Given the description of an element on the screen output the (x, y) to click on. 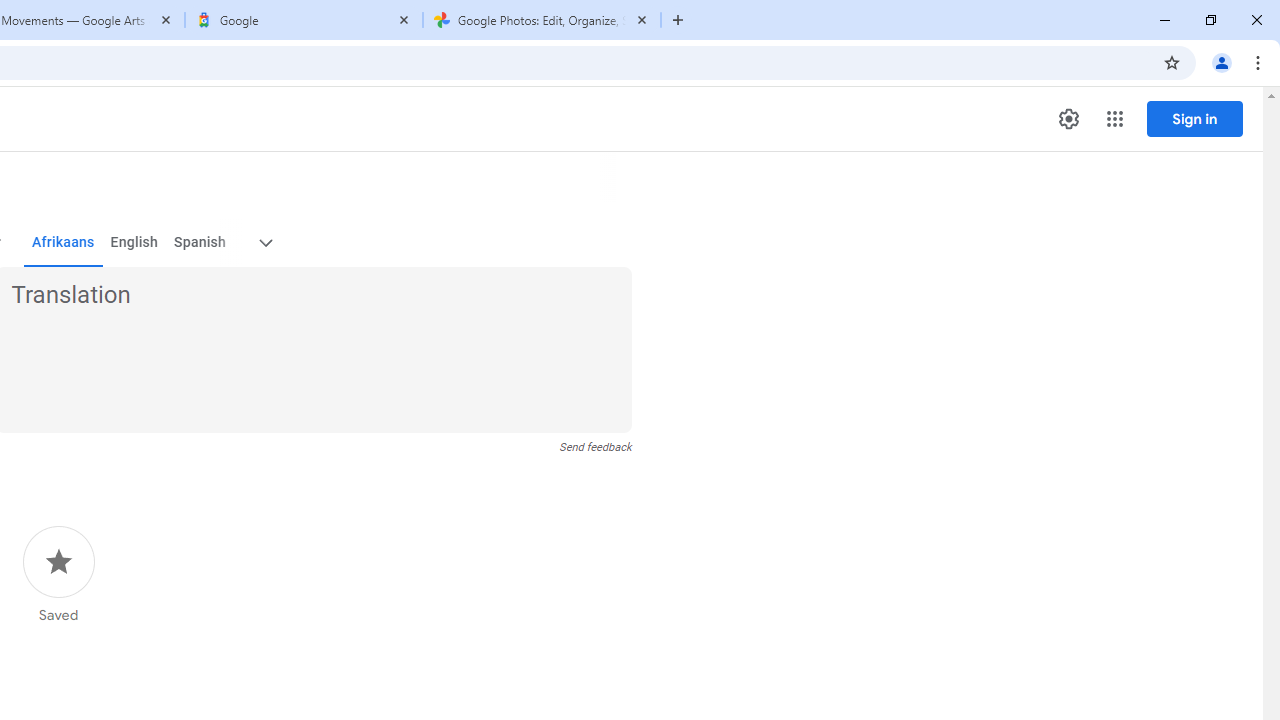
Afrikaans (62, 242)
Google apps (1114, 118)
